Given the description of an element on the screen output the (x, y) to click on. 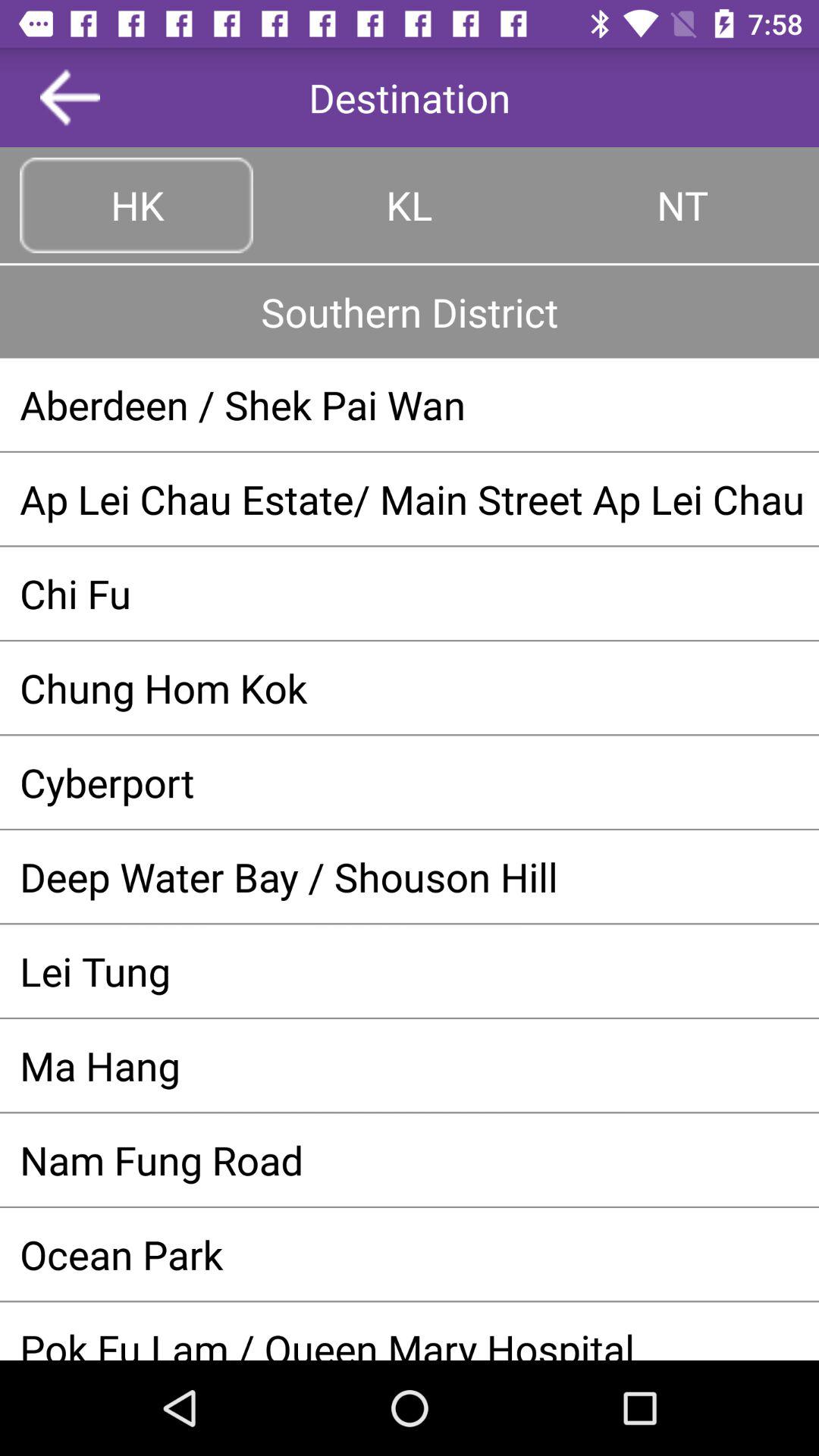
turn off the icon to the right of kl (682, 205)
